Given the description of an element on the screen output the (x, y) to click on. 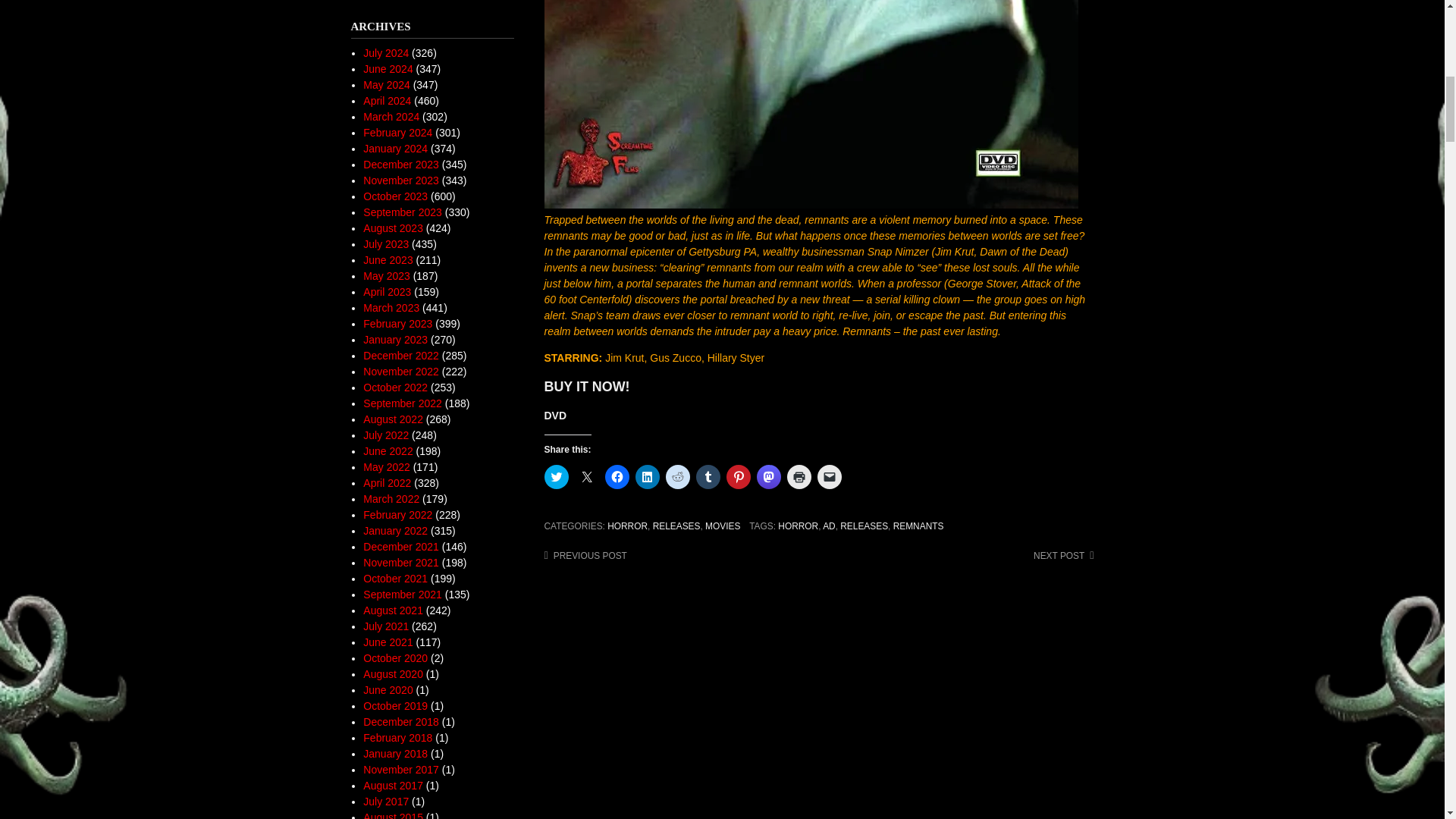
RELEASES (676, 525)
Click to share on Tumblr (707, 476)
HORROR (797, 525)
DVD (555, 415)
Click to share on Mastodon (768, 476)
Click to share on X (586, 476)
PREVIOUS POST (585, 555)
Click to share on Pinterest (738, 476)
Click to share on LinkedIn (646, 476)
AD (828, 525)
RELEASES (864, 525)
Click to share on Twitter (556, 476)
Click to email a link to a friend (828, 476)
Click to share on Reddit (677, 476)
REMNANTS (918, 525)
